Given the description of an element on the screen output the (x, y) to click on. 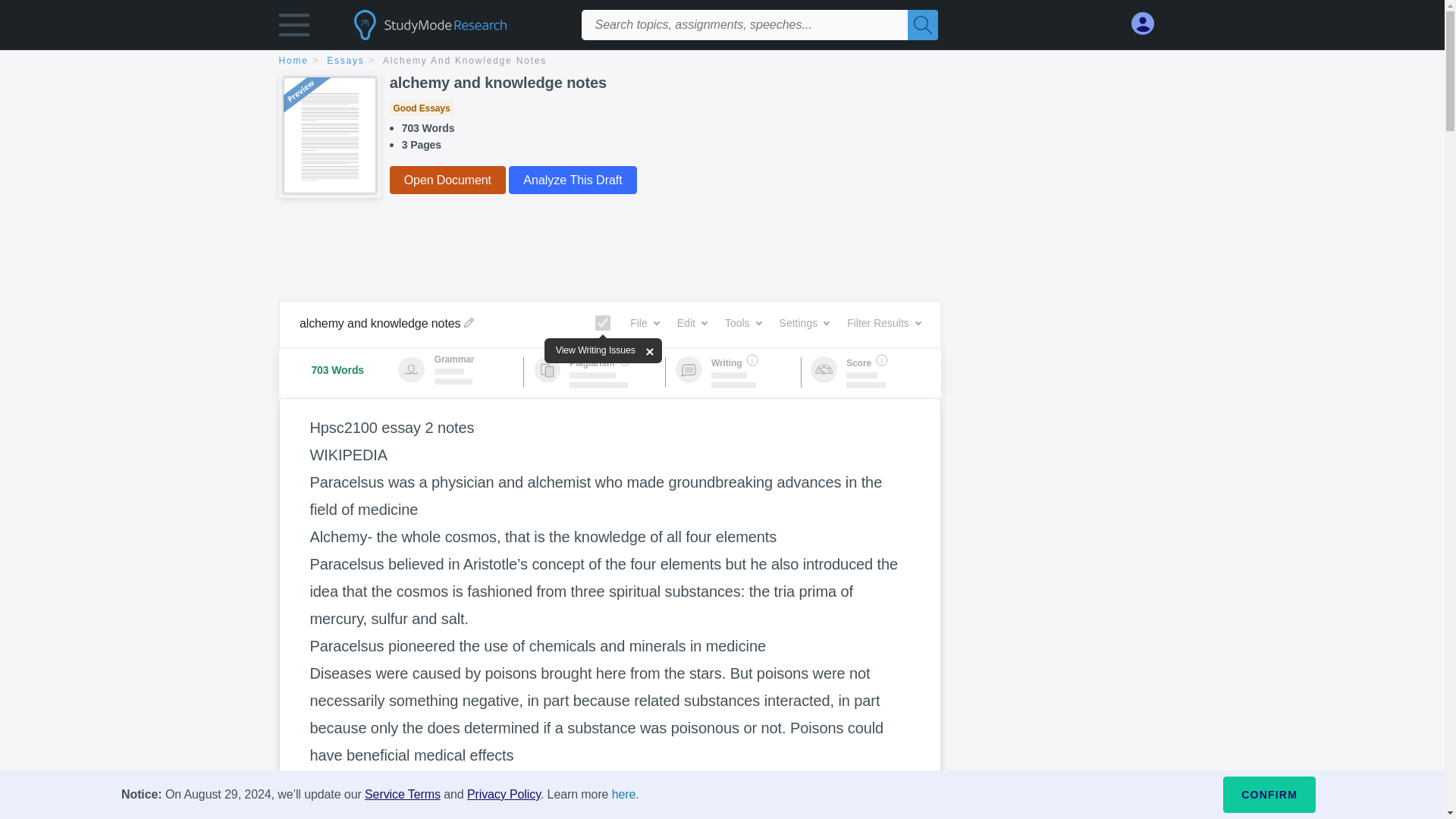
studymode logo (456, 24)
File (644, 323)
Analyze This Draft (572, 180)
Alchemy And Knowledge Notes (464, 60)
universe (492, 782)
Filter Results (883, 323)
Settings (803, 323)
Edit (691, 323)
Open Document (447, 180)
Tools (743, 323)
Home (301, 60)
Essays (353, 60)
on (602, 322)
